Given the description of an element on the screen output the (x, y) to click on. 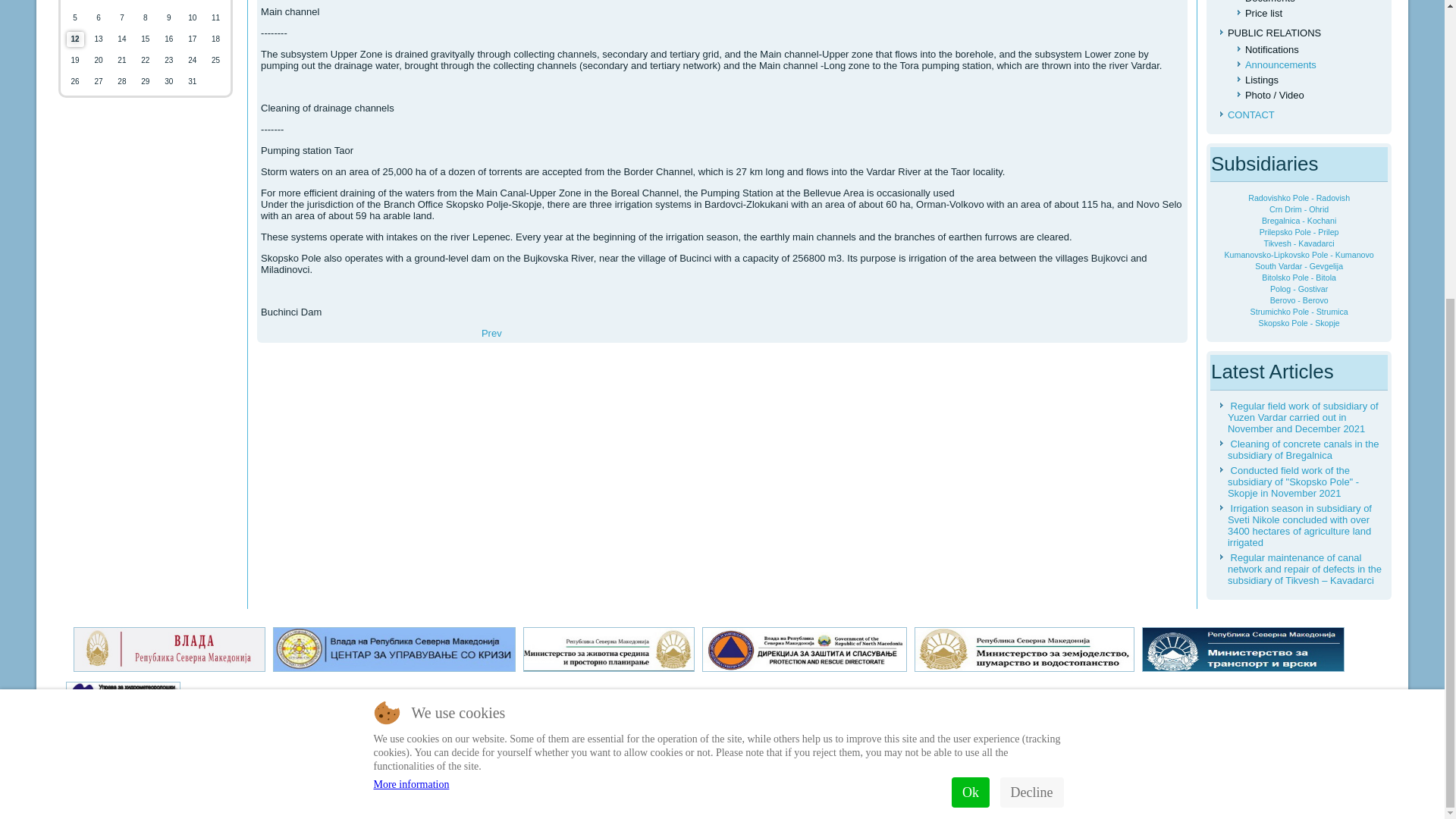
Prev (491, 333)
Bregalnica - Kochani (1299, 220)
CONTACT (1251, 114)
Kumanovsko-Lipkovsko Pole - Kumanovo (1299, 254)
Crn Drim - Ohrid (1298, 208)
Tikvesh - Kavadarci (1299, 243)
Radovishko Pole - Radovish (1298, 197)
Prilepsko Pole - Prilep (1299, 231)
 Subsidiary Strumichko Pole - Strumica (491, 333)
